Given the description of an element on the screen output the (x, y) to click on. 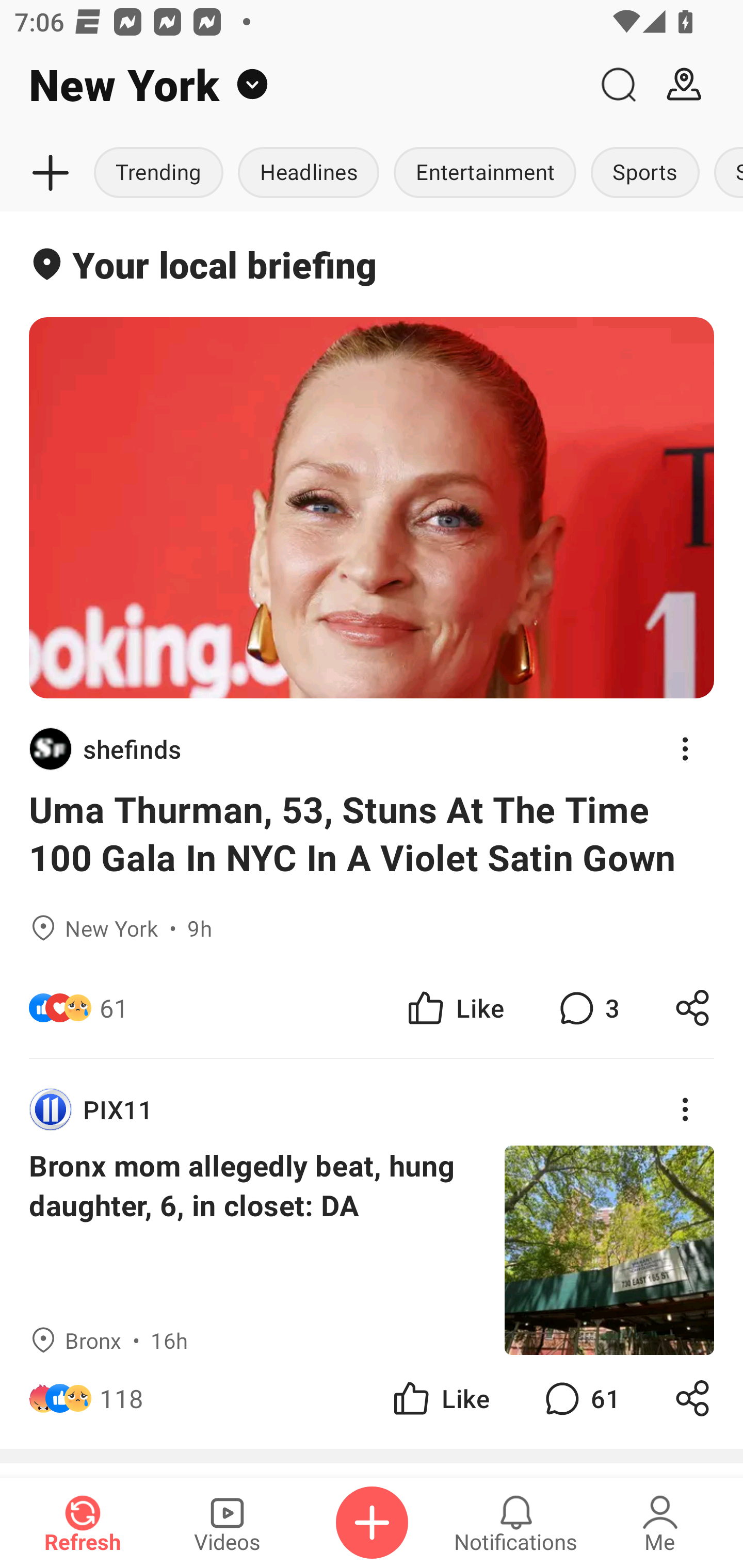
New York (292, 84)
Trending (158, 172)
Headlines (308, 172)
Entertainment (484, 172)
Sports (644, 172)
61 (113, 1007)
Like (454, 1007)
3 (587, 1007)
118 (121, 1397)
Like (439, 1397)
61 (579, 1397)
Videos (227, 1522)
Notifications (516, 1522)
Me (659, 1522)
